Given the description of an element on the screen output the (x, y) to click on. 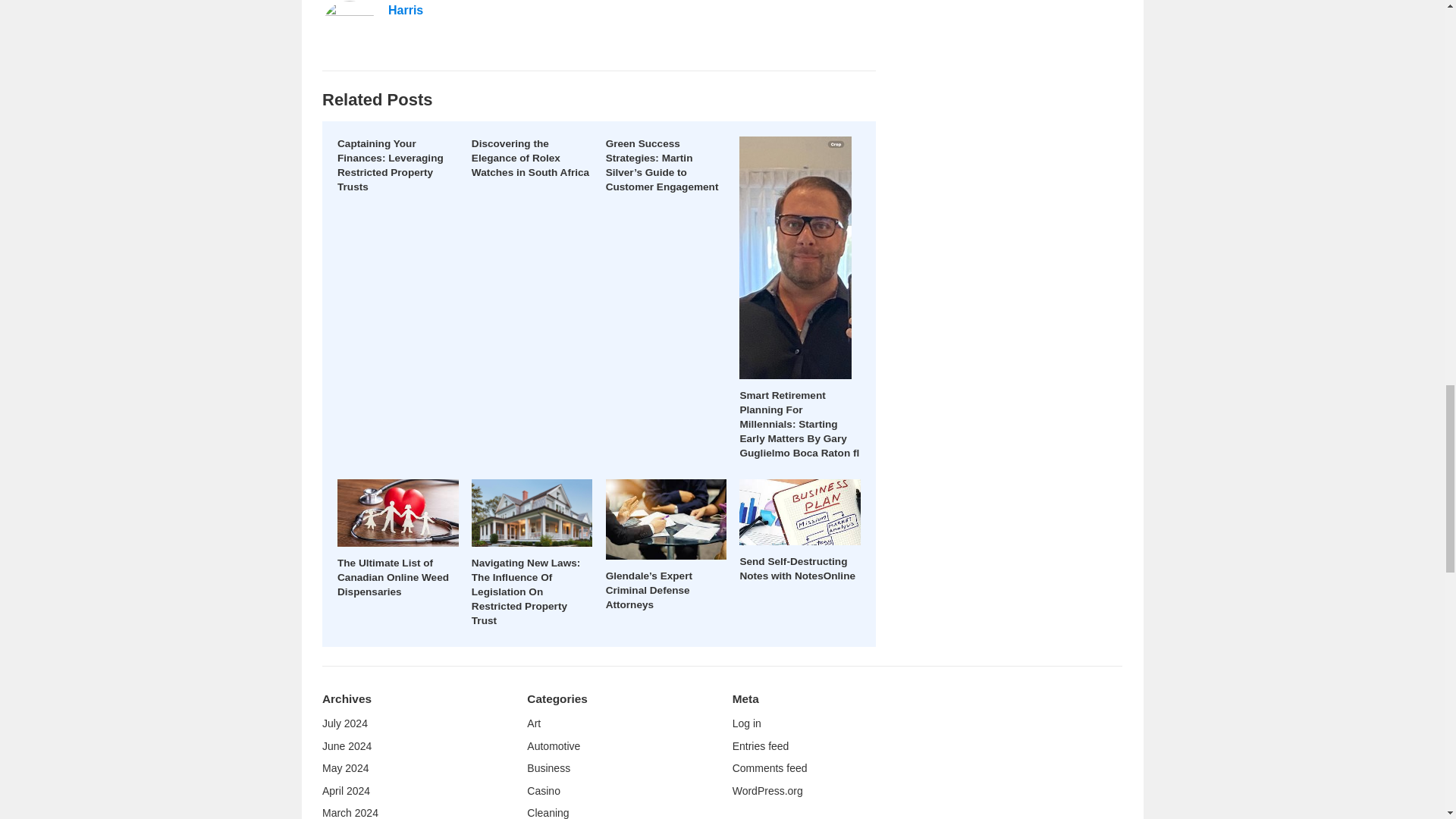
Discovering the Elegance of Rolex Watches in South Africa (530, 158)
The Ultimate List of Canadian Online Weed Dispensaries (392, 577)
Send Self-Destructing Notes with NotesOnline (797, 568)
Harris (405, 10)
